Given the description of an element on the screen output the (x, y) to click on. 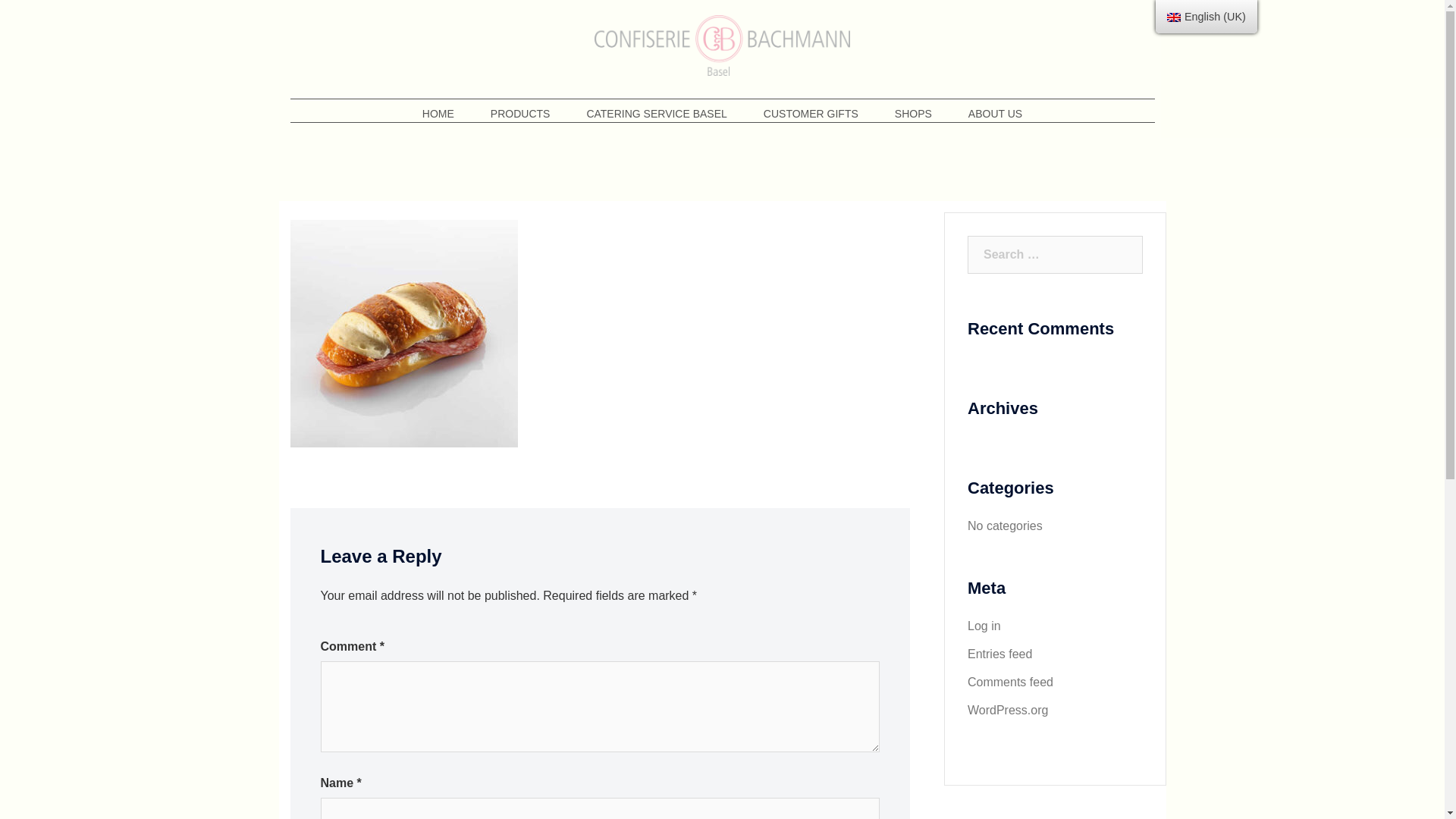
WordPress.org Element type: text (1007, 709)
English (UK) Element type: hover (1173, 16)
Entries feed Element type: text (999, 653)
SHOPS Element type: text (913, 113)
CUSTOMER GIFTS Element type: text (811, 113)
Confiserie Bachmann Element type: hover (722, 49)
English (UK) Element type: text (1206, 16)
Comments feed Element type: text (1010, 681)
ABOUT US Element type: text (994, 113)
Search Element type: text (49, 18)
CATERING SERVICE BASEL Element type: text (656, 113)
PRODUCTS Element type: text (520, 113)
HOME Element type: text (437, 113)
Log in Element type: text (984, 625)
